Given the description of an element on the screen output the (x, y) to click on. 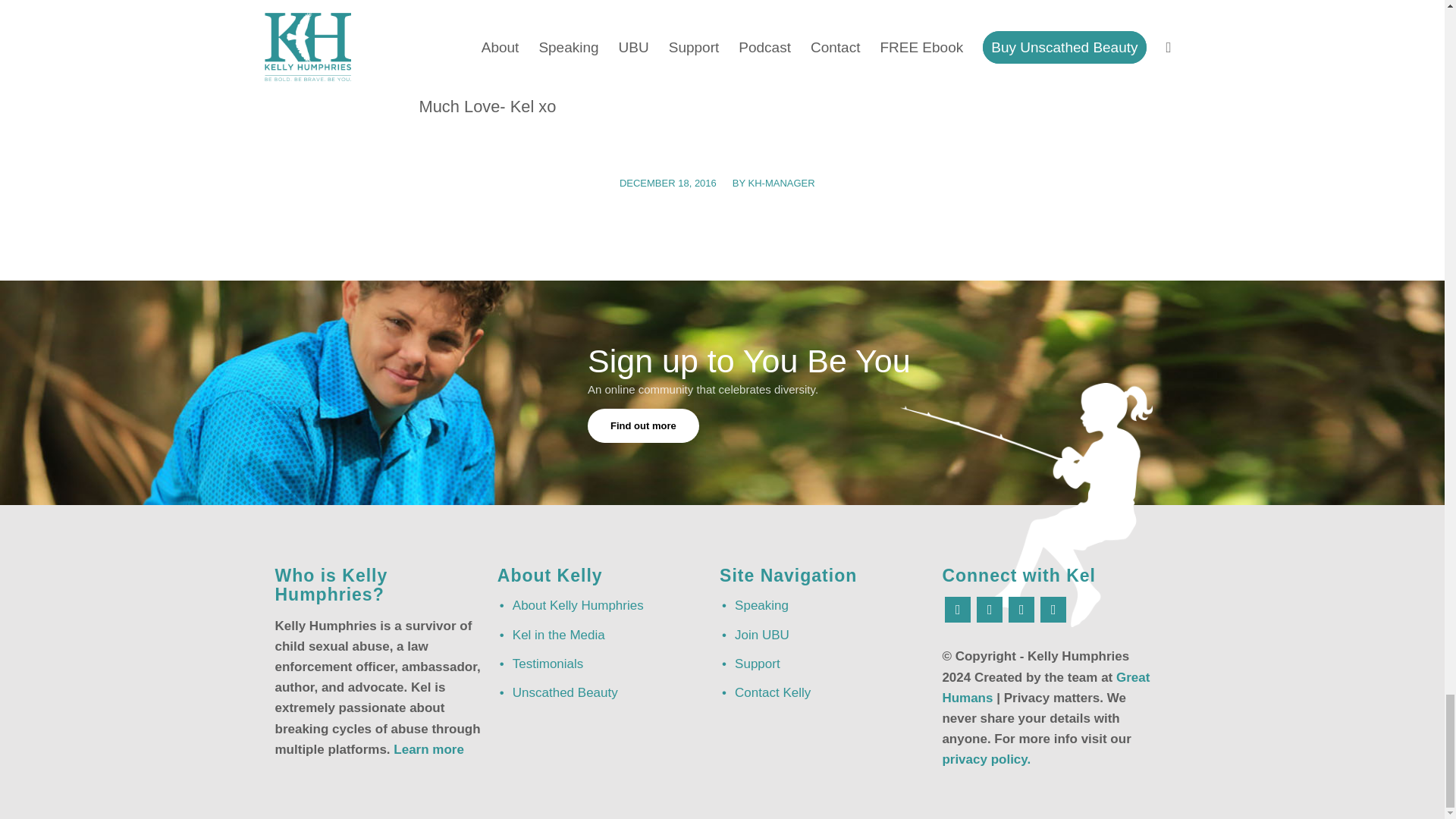
Instagram (989, 608)
Fishing-Girl (1026, 505)
Facebook (957, 608)
Default Label (1021, 608)
About Kelly Humphries (602, 605)
Posts by KH-Manager (781, 183)
Kel in the Media (602, 634)
Testimonials (602, 663)
Find out more (643, 425)
KH-MANAGER (781, 183)
